Given the description of an element on the screen output the (x, y) to click on. 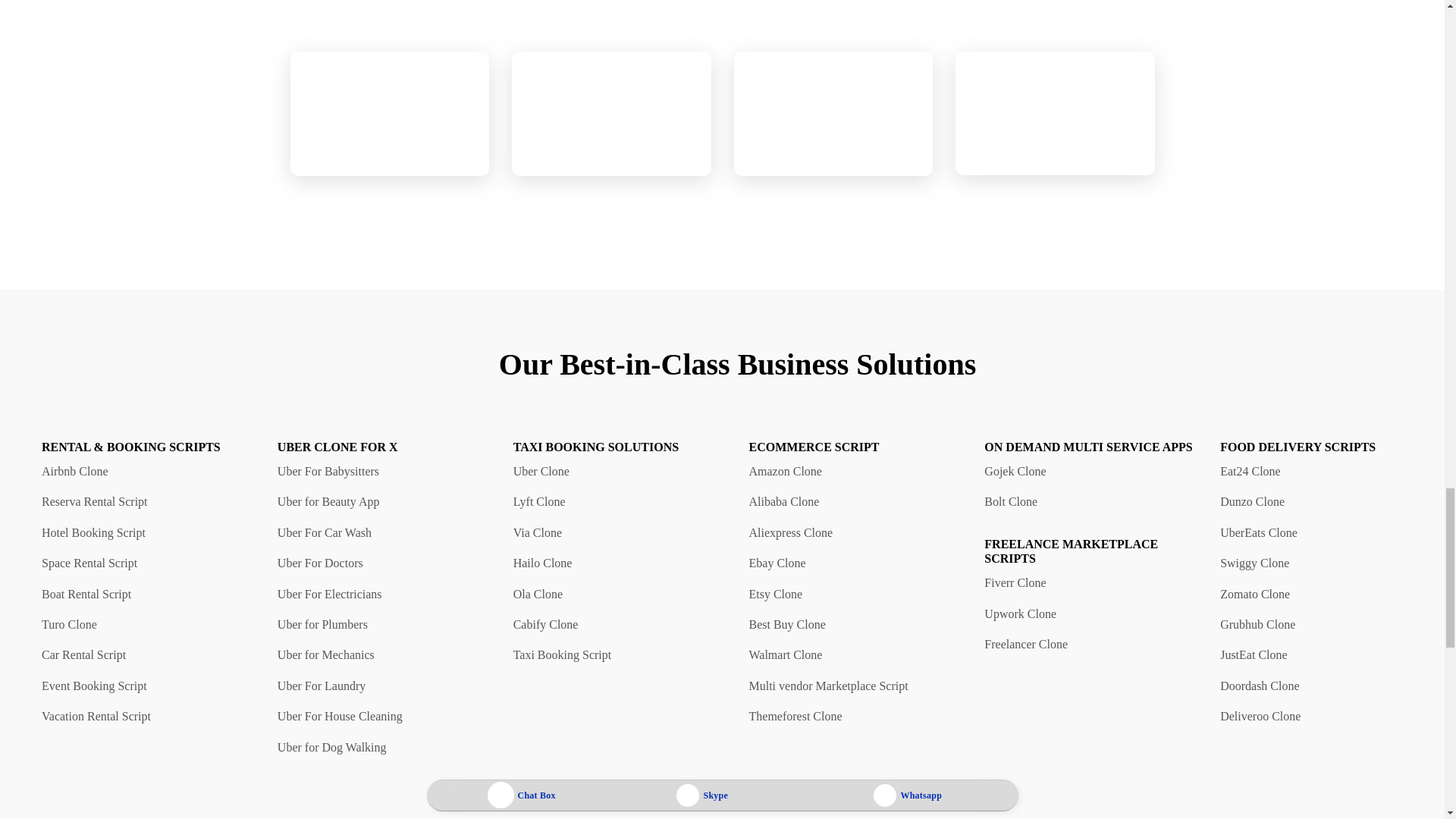
group-31-666fe8cd79fe7 (1054, 113)
group-58-666fe8ce20721 (611, 113)
group-59-666fe8ce25f1a (833, 113)
group-41-666fe8cd7a03f (389, 113)
